Given the description of an element on the screen output the (x, y) to click on. 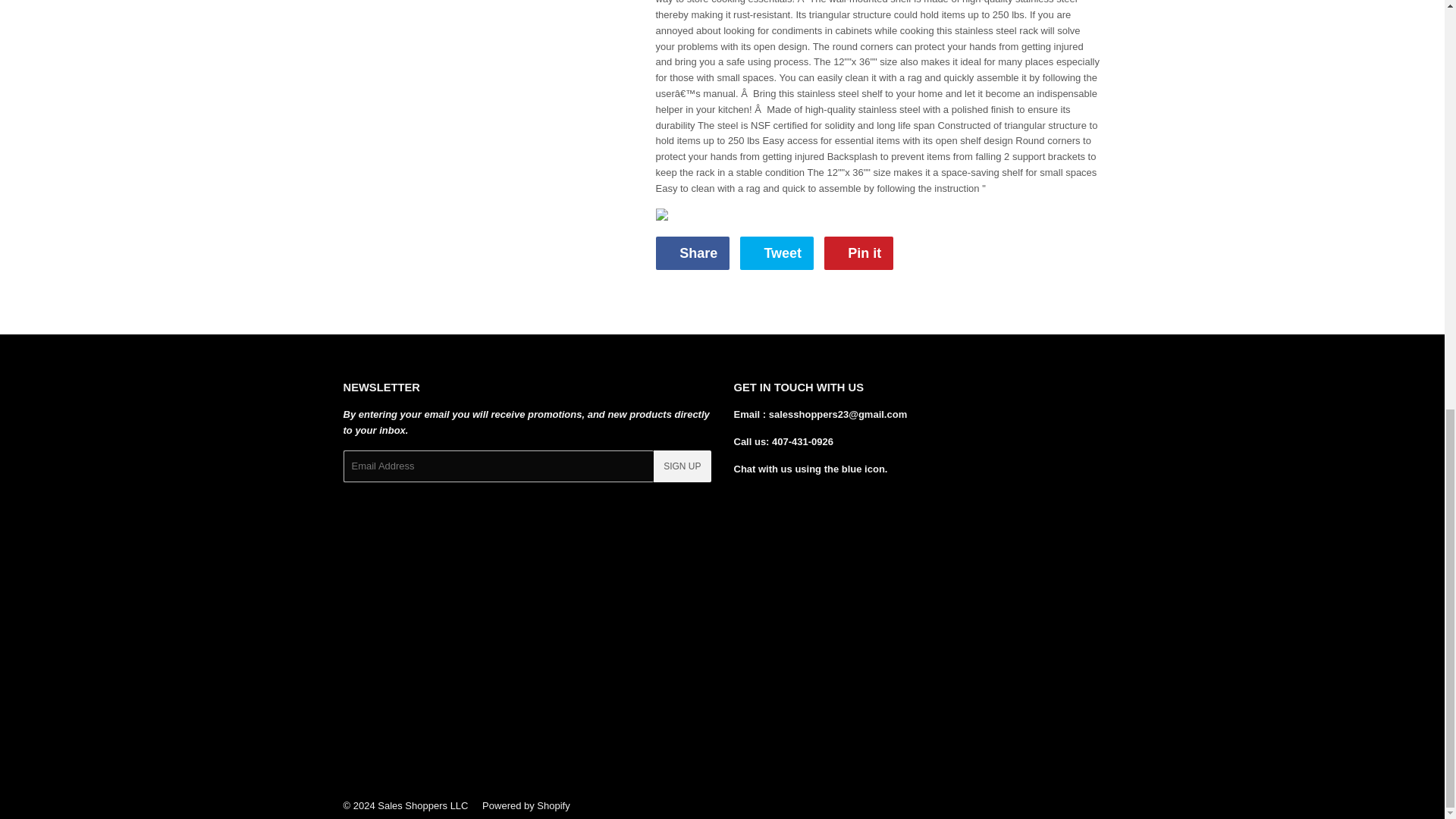
Share on Facebook (776, 253)
Pin on Pinterest (692, 253)
Tweet on Twitter (858, 253)
